Given the description of an element on the screen output the (x, y) to click on. 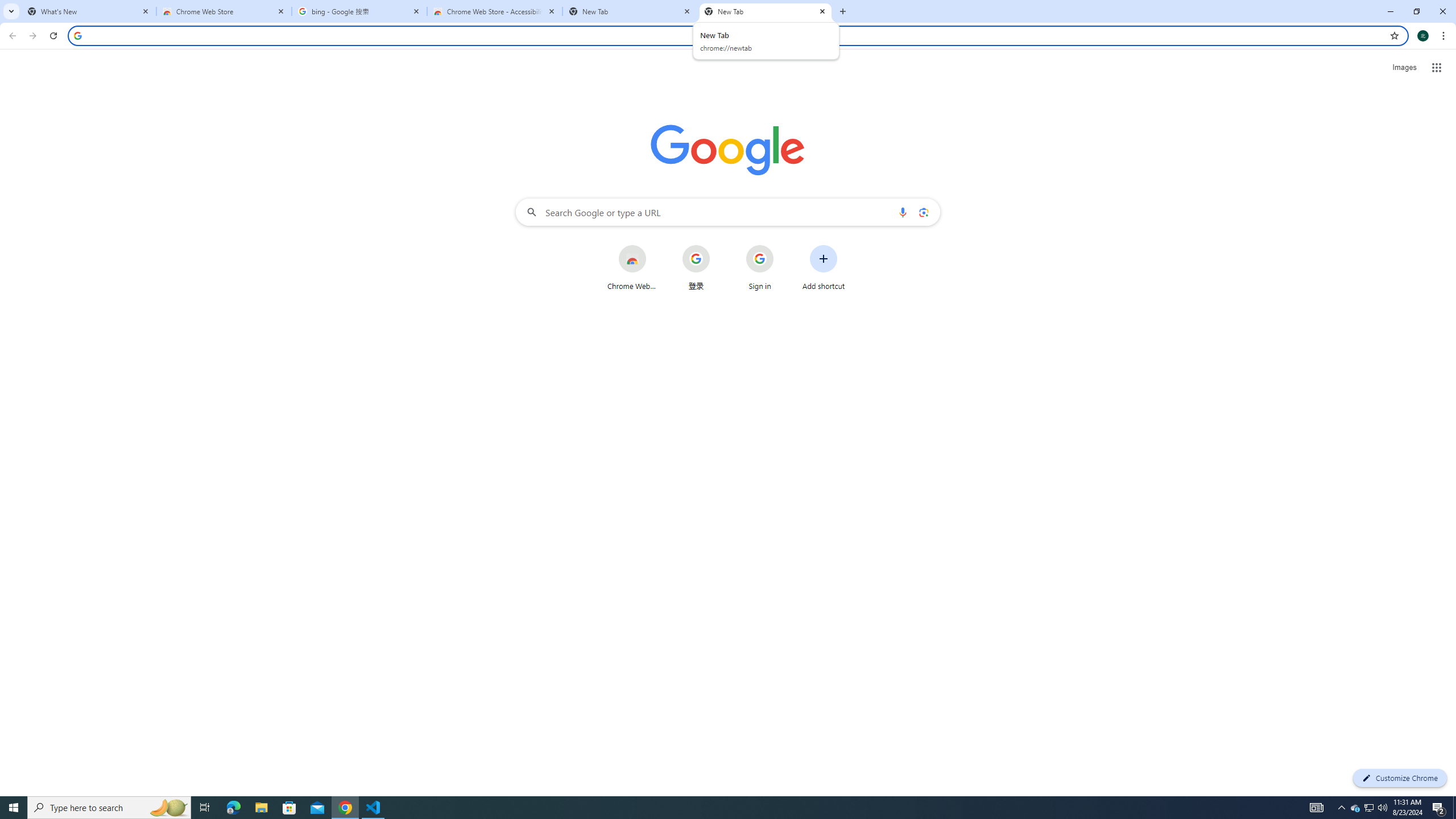
Sign in (760, 267)
New Tab (630, 11)
